Given the description of an element on the screen output the (x, y) to click on. 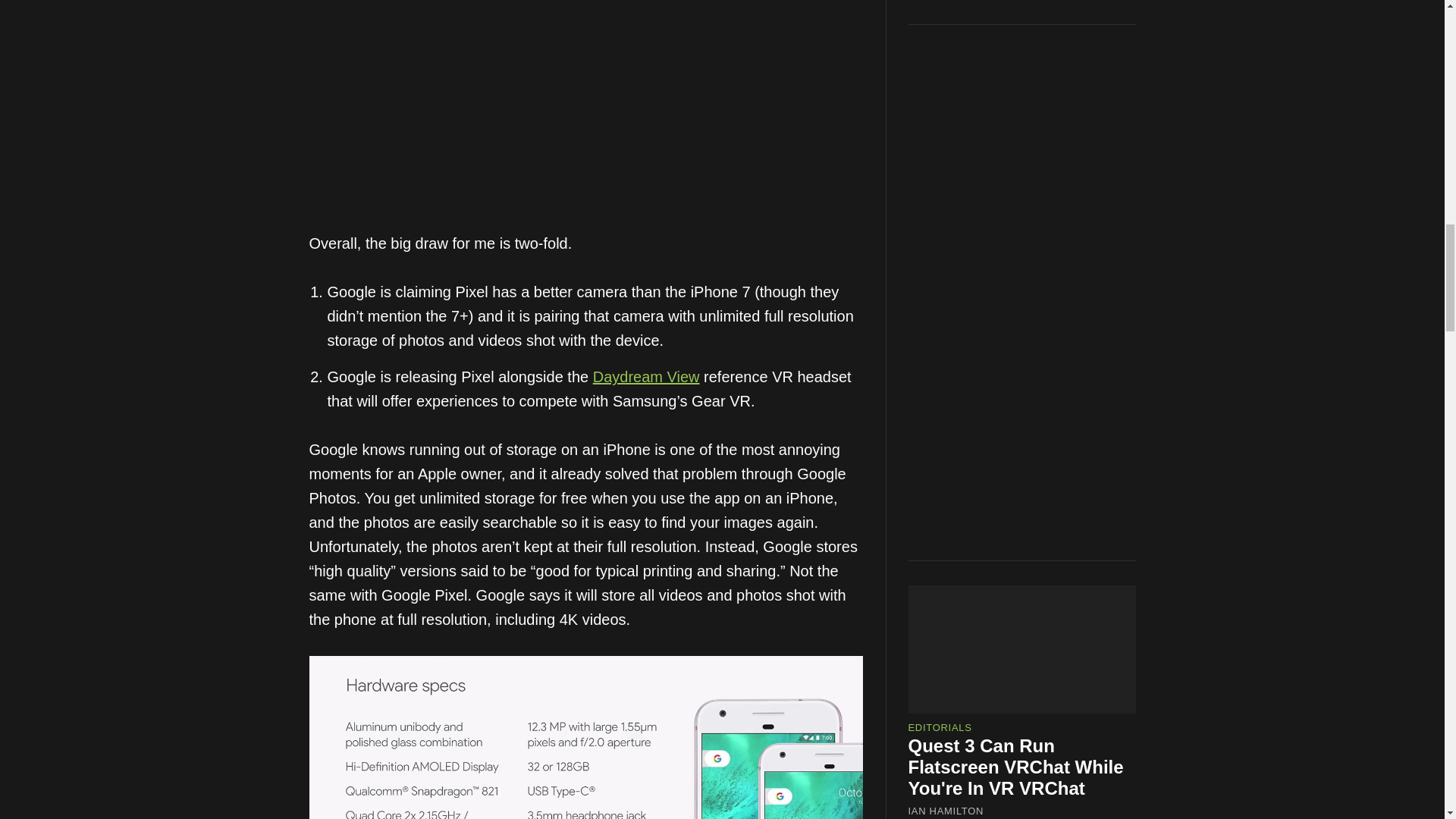
Quest 3 Can Run Flatscreen VRChat While You're In VR VRChat (1016, 654)
EDITORIALS (940, 614)
Daydream View (646, 376)
IAN HAMILTON (946, 698)
